Given the description of an element on the screen output the (x, y) to click on. 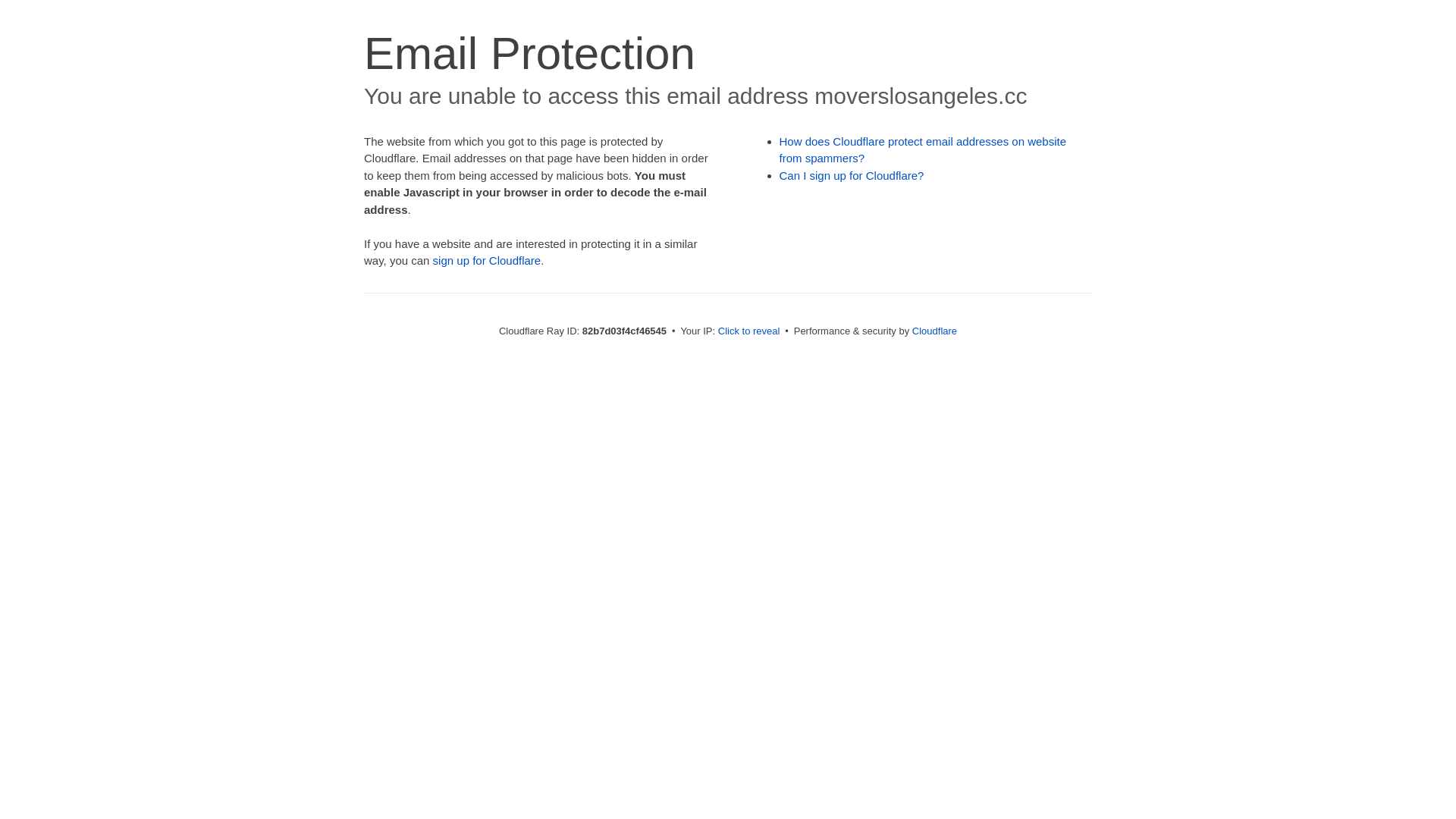
Click to reveal Element type: text (749, 330)
sign up for Cloudflare Element type: text (487, 260)
Can I sign up for Cloudflare? Element type: text (851, 175)
Cloudflare Element type: text (934, 330)
